Given the description of an element on the screen output the (x, y) to click on. 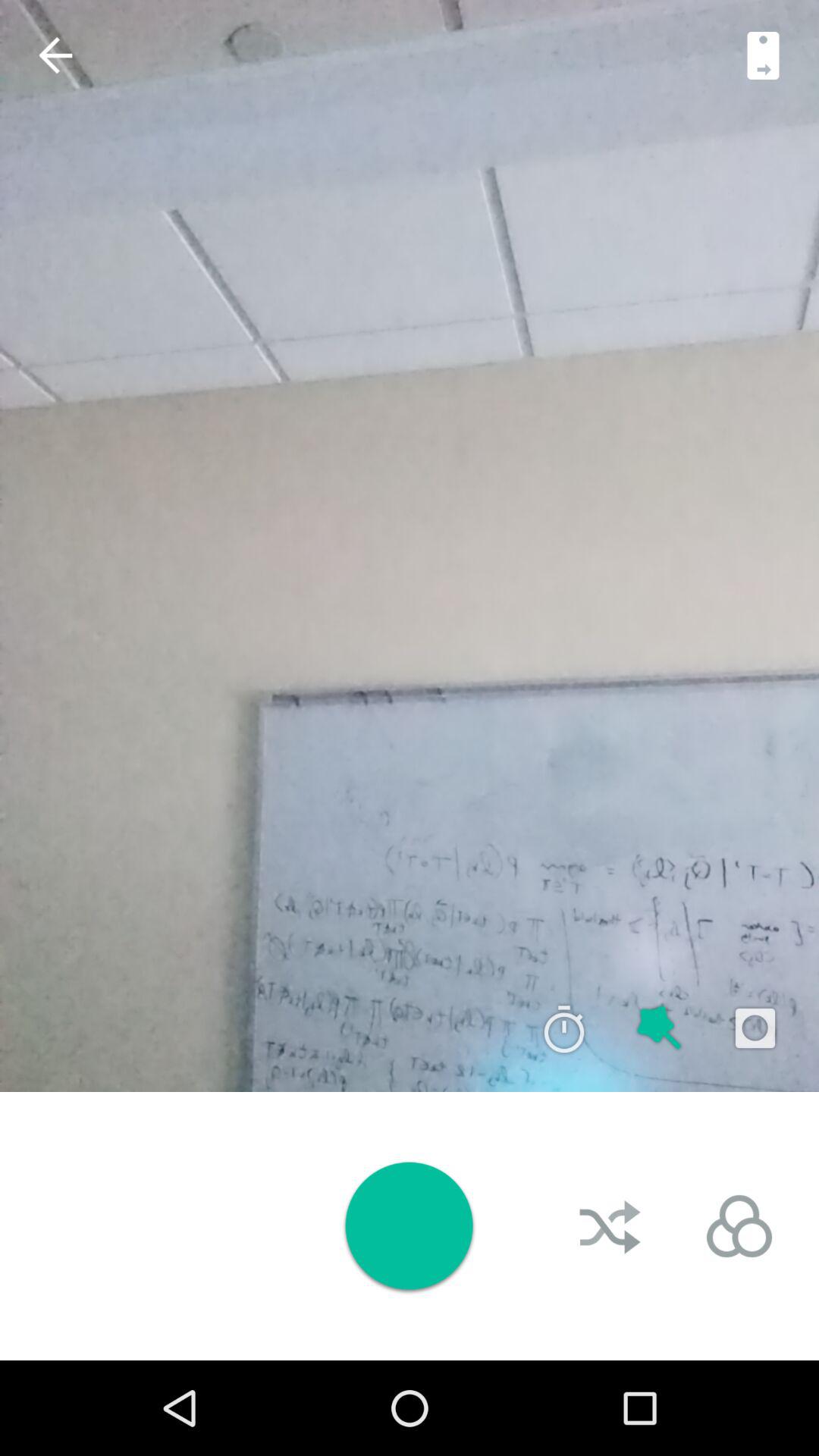
take picture (408, 1225)
